Given the description of an element on the screen output the (x, y) to click on. 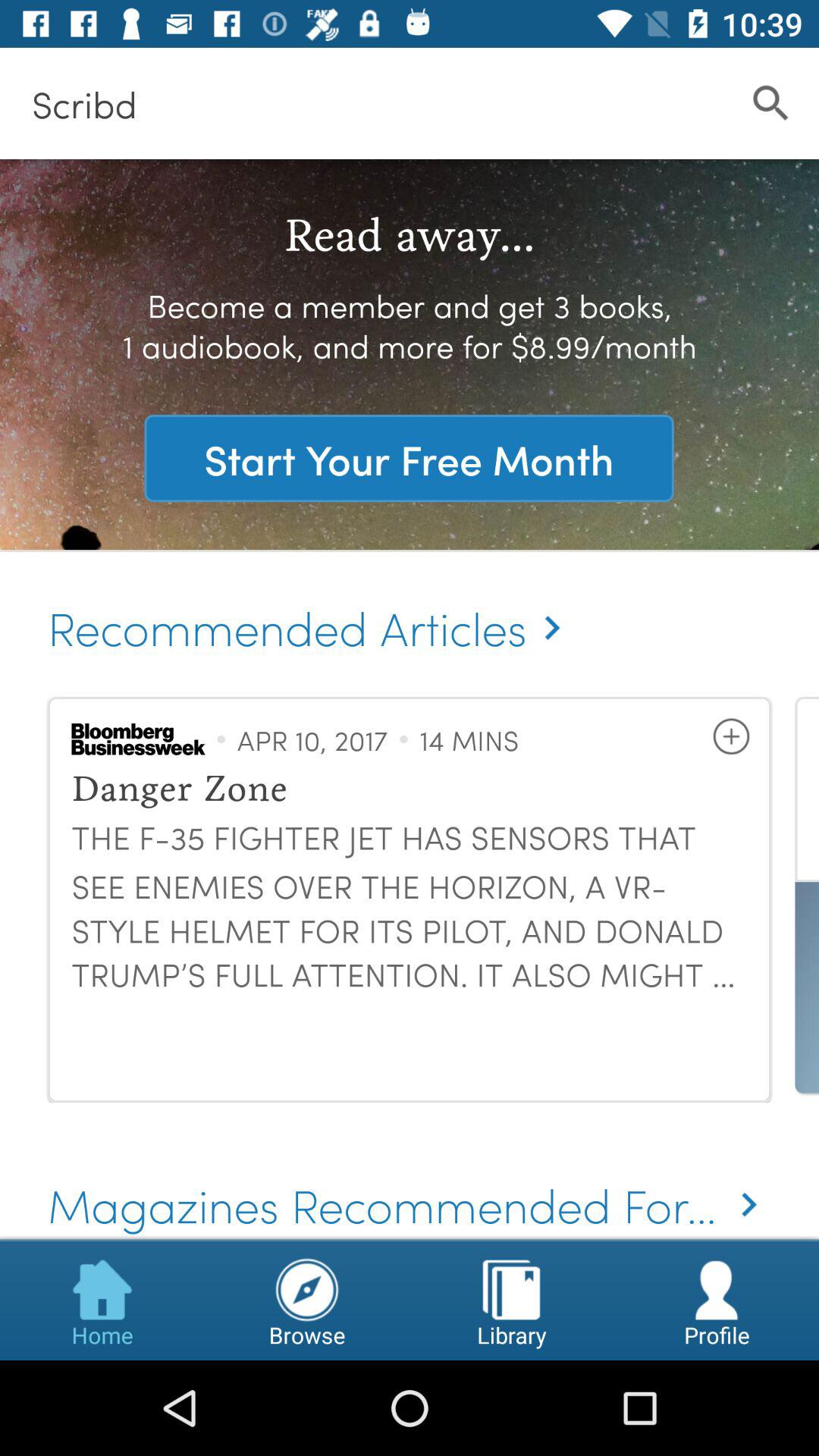
swipe to the magazines recommended for item (409, 1183)
